Given the description of an element on the screen output the (x, y) to click on. 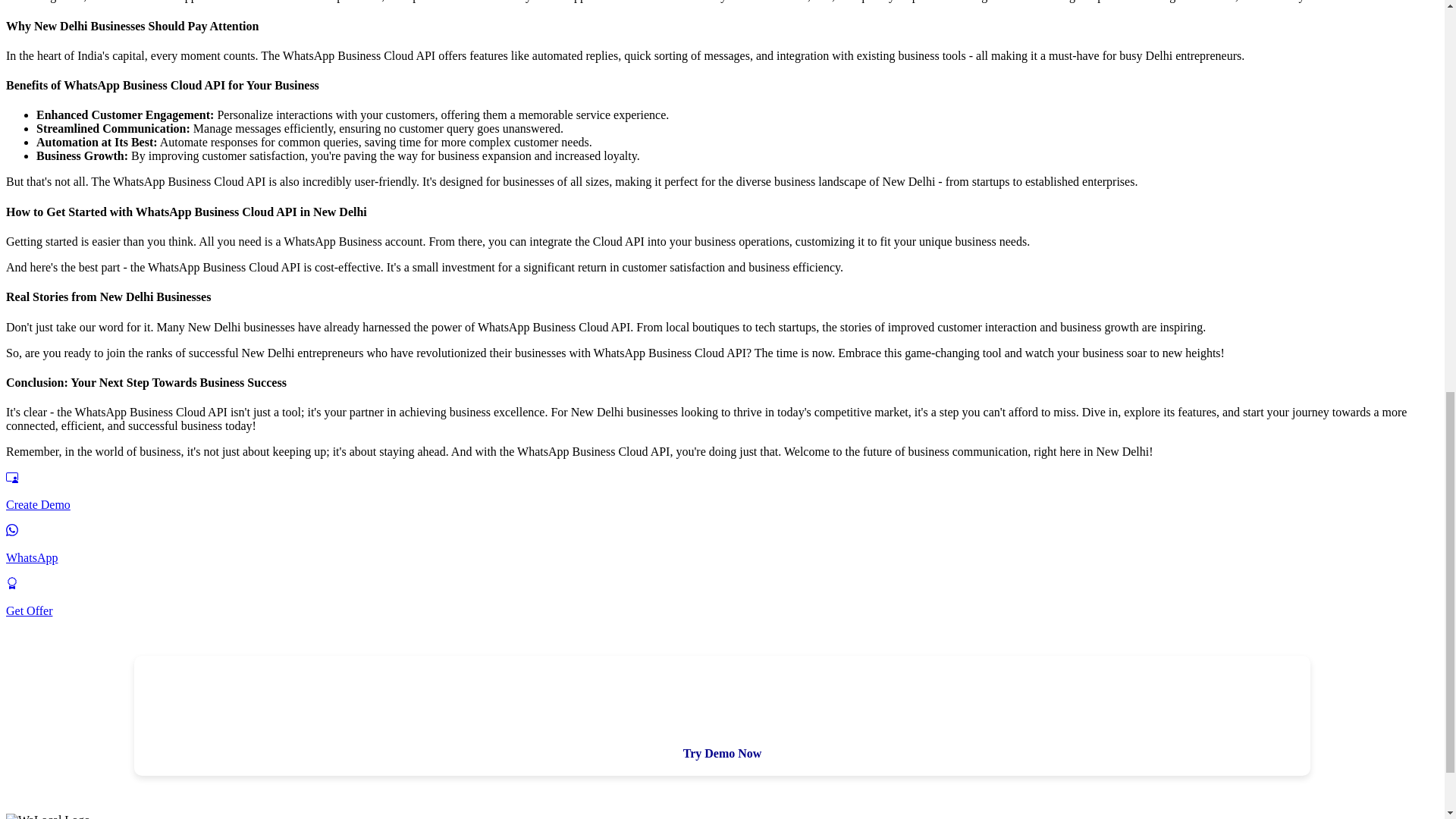
Try Demo Now (722, 753)
